Given the description of an element on the screen output the (x, y) to click on. 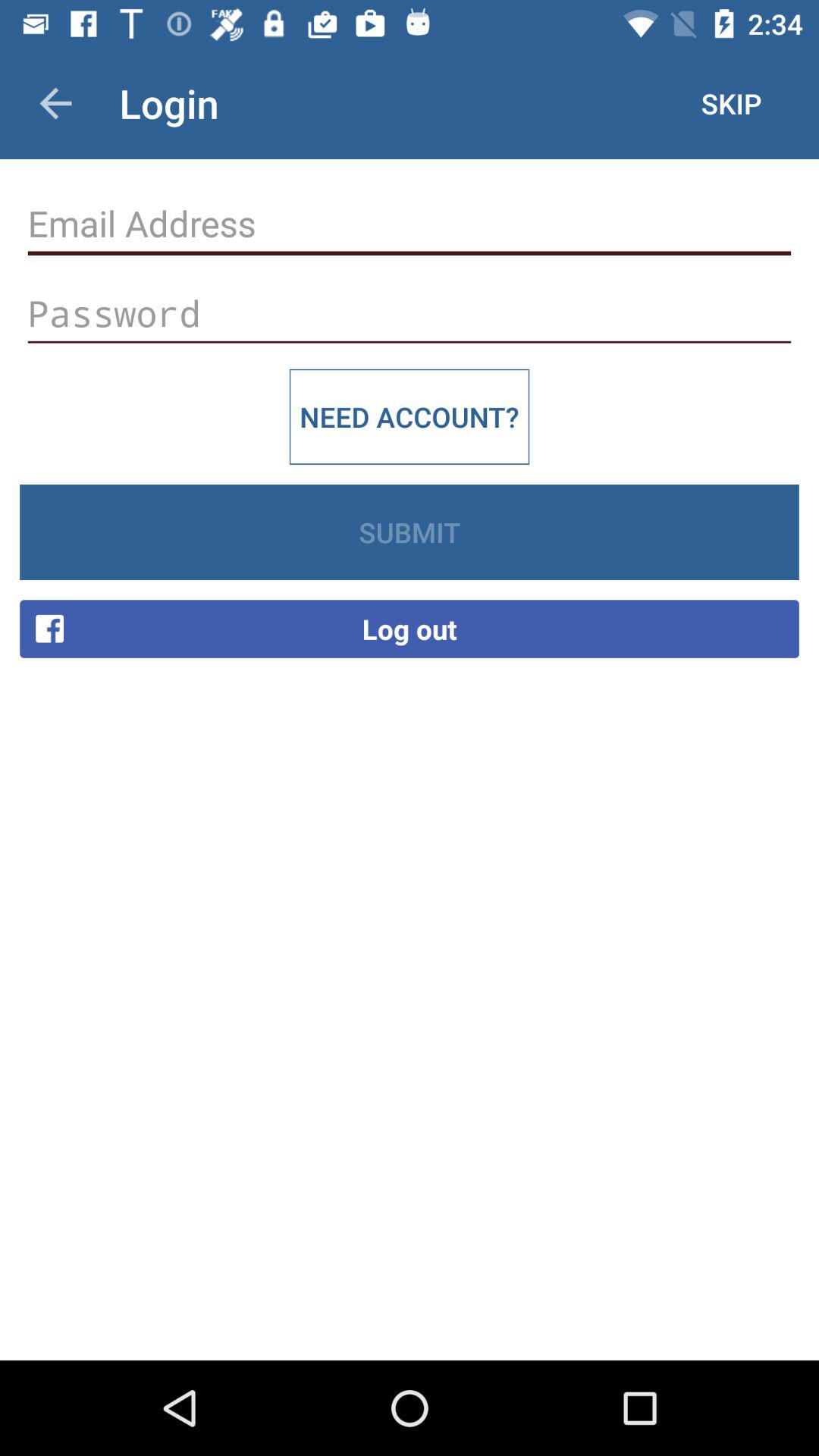
choose the icon above the log out item (409, 532)
